Given the description of an element on the screen output the (x, y) to click on. 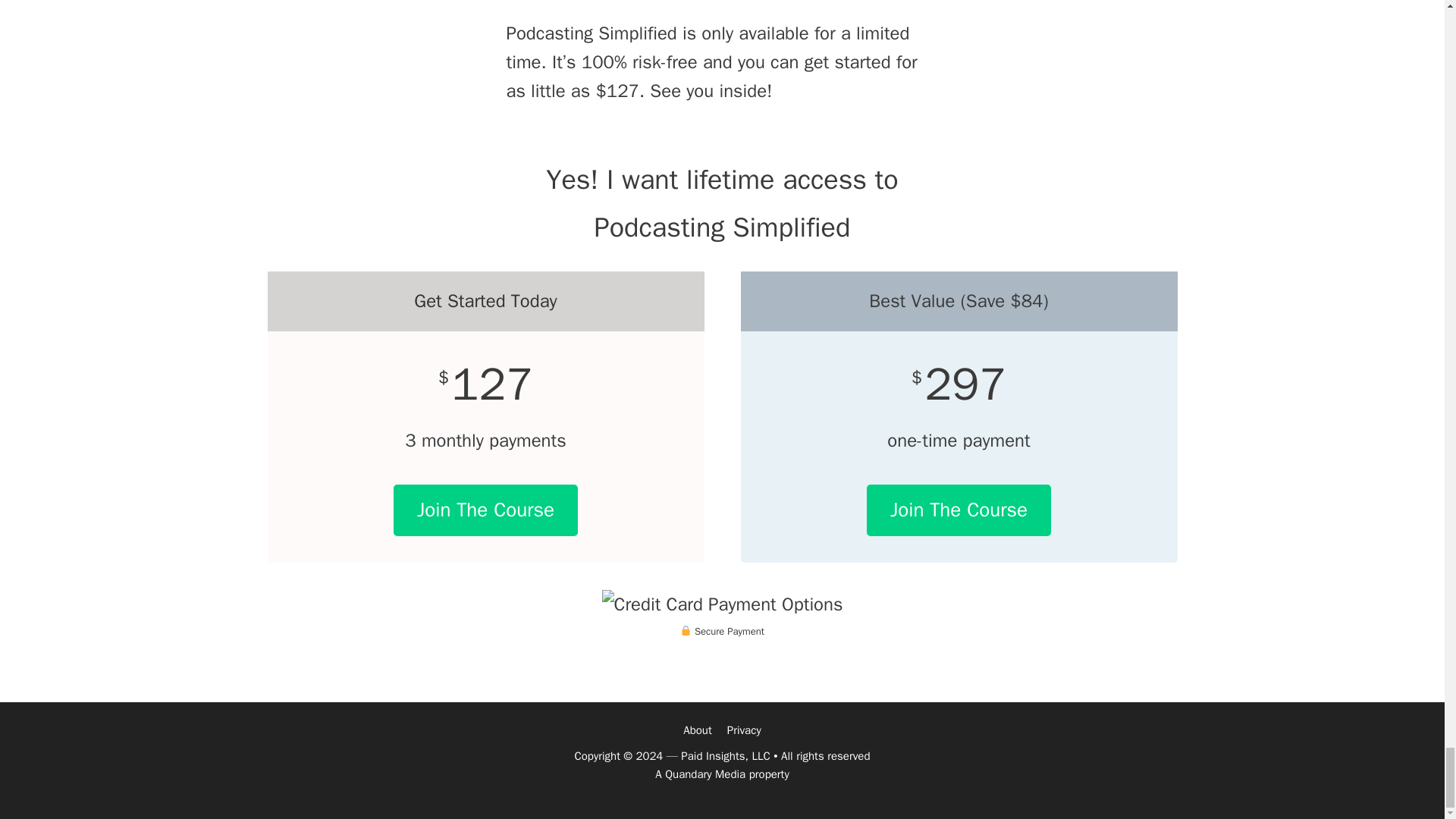
Privacy (743, 730)
Join The Course (485, 510)
Join The Course (958, 510)
About (696, 730)
Quandary Media (705, 774)
